Given the description of an element on the screen output the (x, y) to click on. 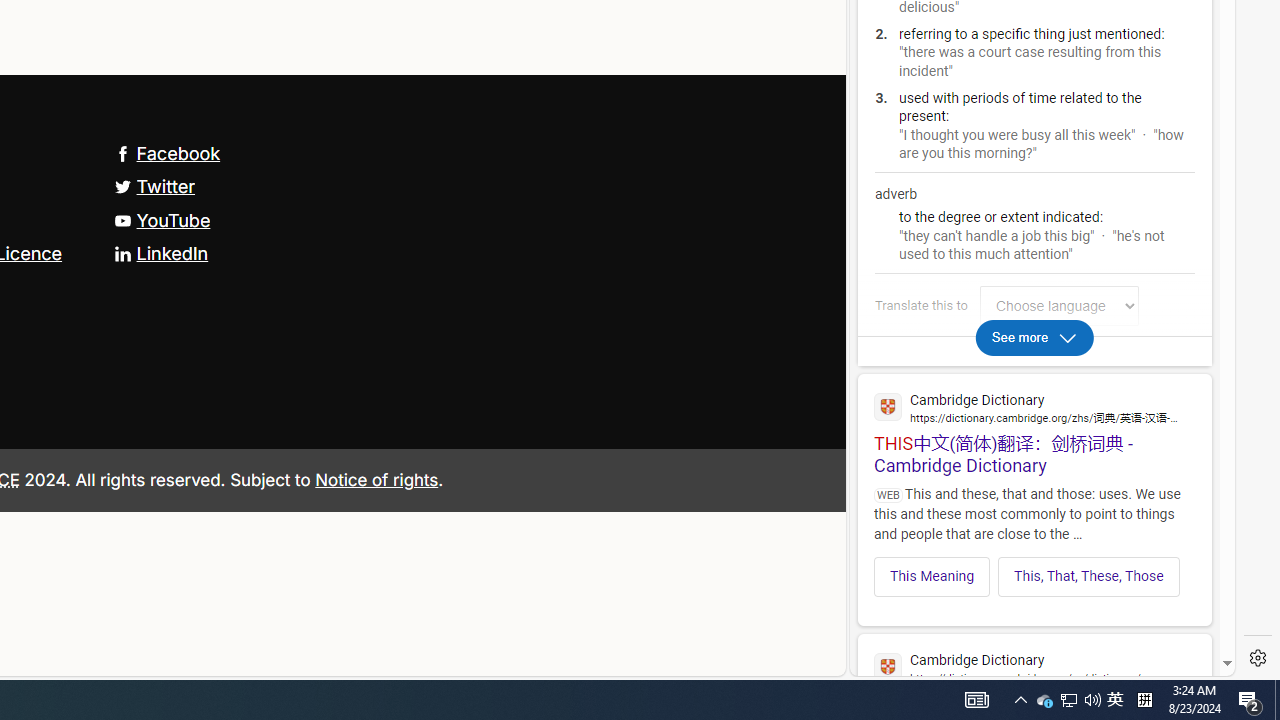
This, That, These, Those (1089, 575)
Settings (1258, 658)
This, That, These, Those (1088, 575)
This Meaning (932, 575)
Notice of rights (376, 479)
LinkedIn (160, 252)
Facebook (167, 152)
Global web icon (888, 667)
This MeaningThis, That, These, Those (1034, 570)
Twitter (154, 186)
This Meaning (932, 575)
